Given the description of an element on the screen output the (x, y) to click on. 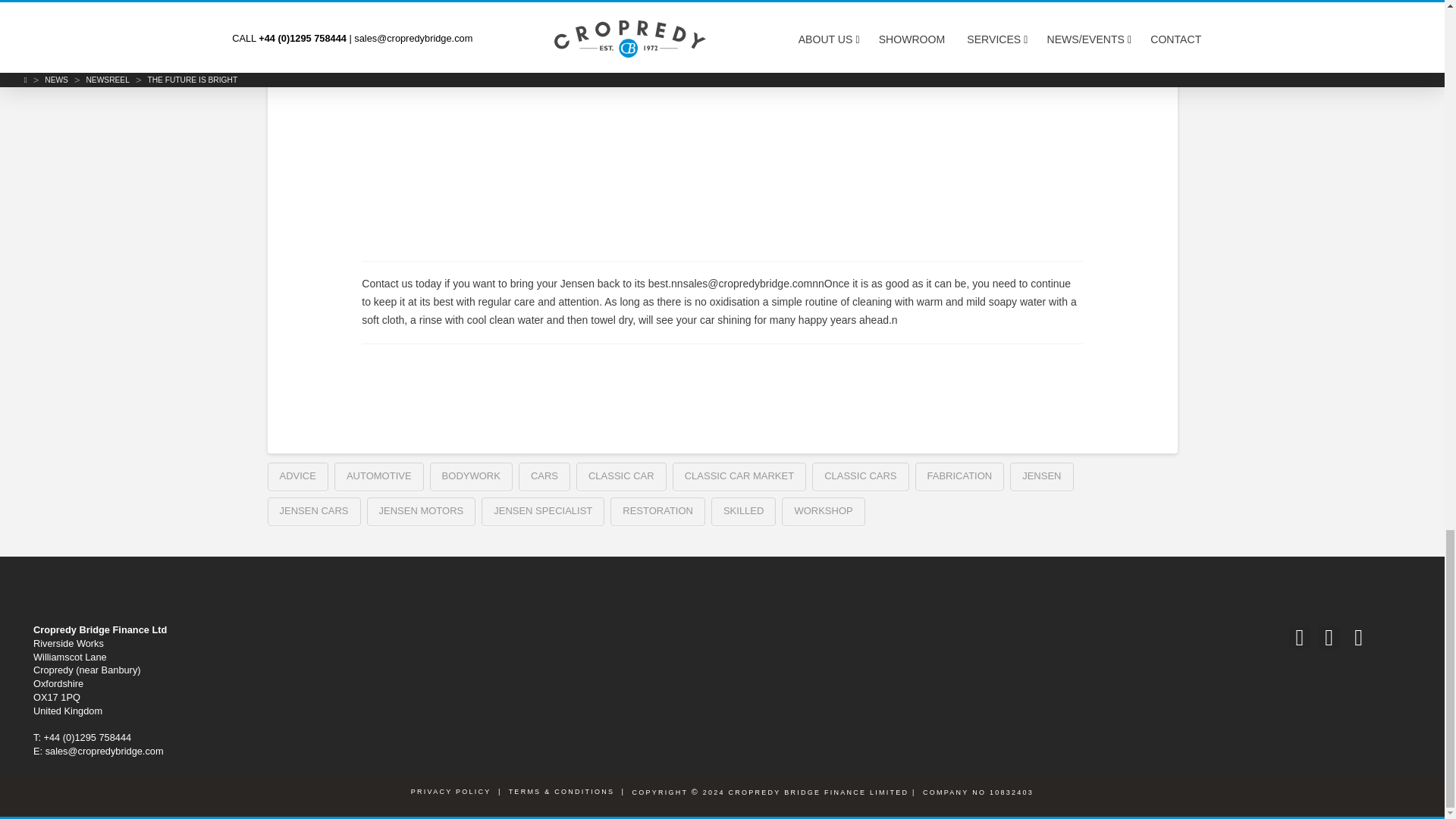
CLASSIC CARS (860, 476)
ADVICE (296, 476)
JENSEN CARS (312, 511)
RESTORATION (657, 511)
BODYWORK (470, 476)
JENSEN SPECIALIST (542, 511)
WORKSHOP (822, 511)
JENSEN (1041, 476)
SKILLED (743, 511)
FABRICATION (959, 476)
